Given the description of an element on the screen output the (x, y) to click on. 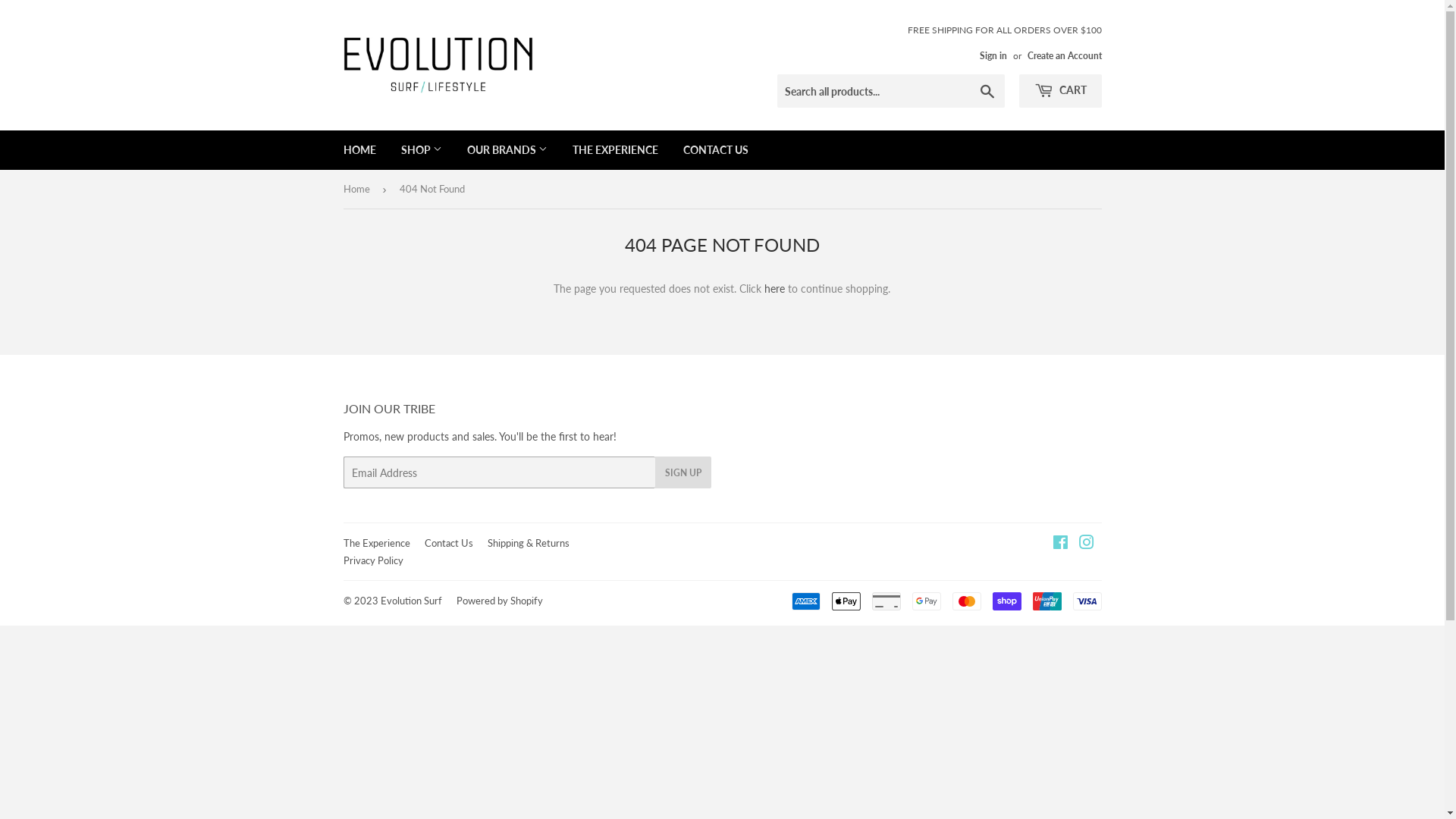
Search Element type: text (987, 91)
HOME Element type: text (359, 149)
THE EXPERIENCE Element type: text (615, 149)
Create an Account Element type: text (1063, 55)
Evolution Surf Element type: text (411, 600)
OUR BRANDS Element type: text (506, 149)
Privacy Policy Element type: text (372, 560)
CART Element type: text (1060, 90)
Instagram Element type: text (1085, 543)
Powered by Shopify Element type: text (499, 600)
CONTACT US Element type: text (715, 149)
Shipping & Returns Element type: text (527, 542)
Facebook Element type: text (1060, 543)
Home Element type: text (358, 188)
Sign in Element type: text (993, 55)
SHOP Element type: text (421, 149)
here Element type: text (774, 288)
Contact Us Element type: text (448, 542)
The Experience Element type: text (375, 542)
SIGN UP Element type: text (683, 472)
